Given the description of an element on the screen output the (x, y) to click on. 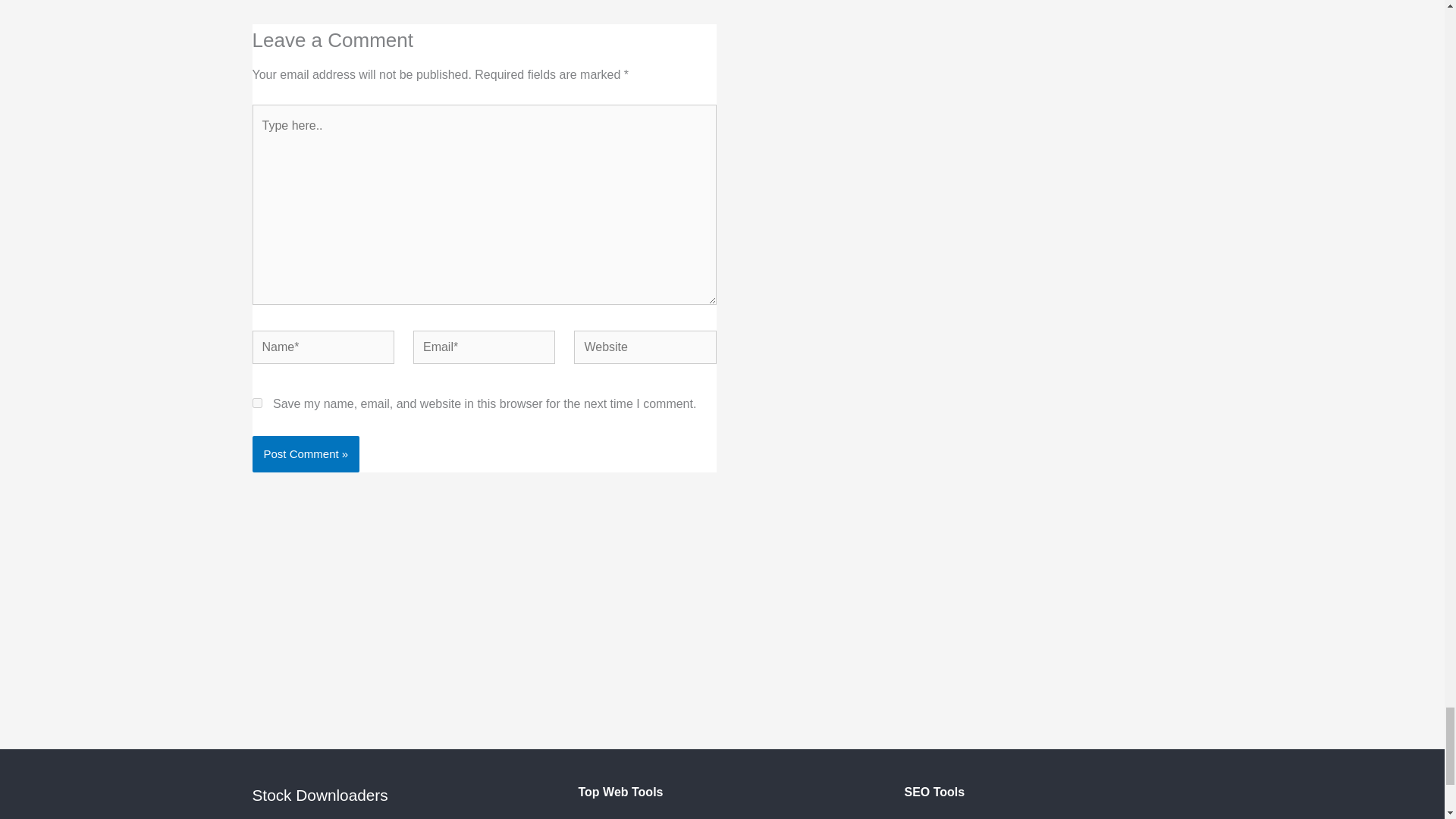
yes (256, 402)
